Given the description of an element on the screen output the (x, y) to click on. 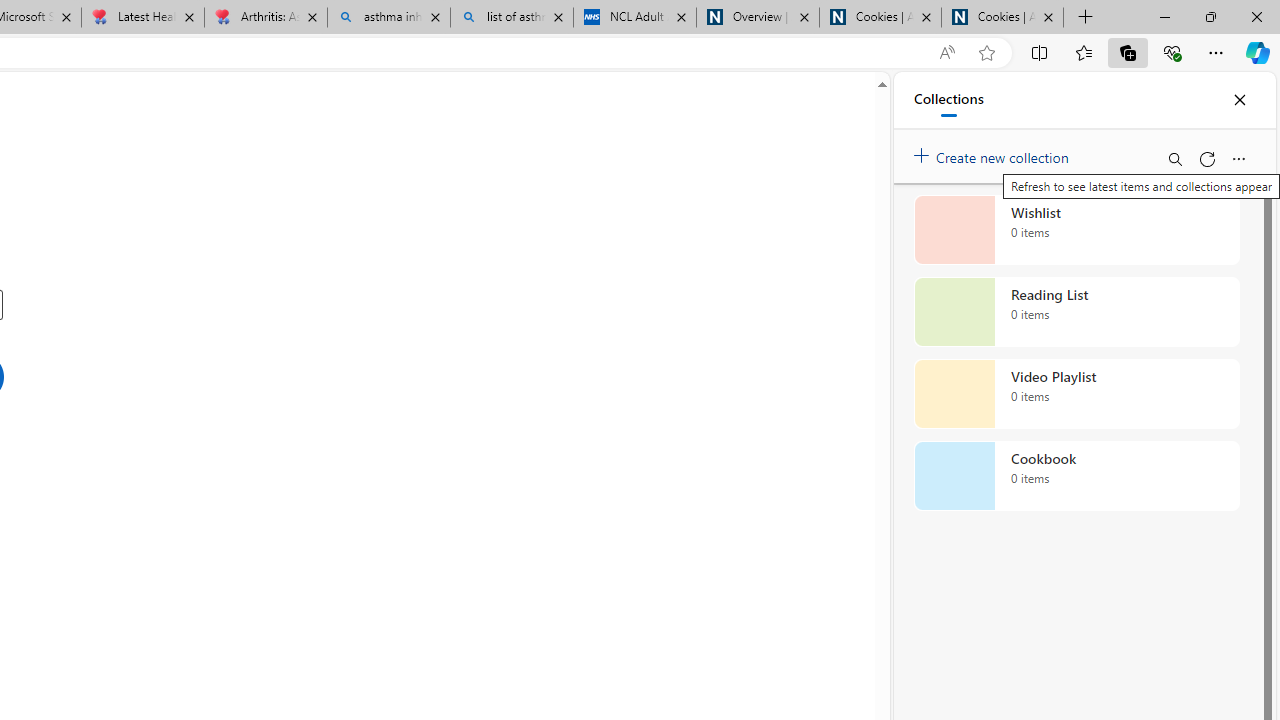
Reading List collection, 0 items (1076, 312)
asthma inhaler - Search (388, 17)
Cookies | About | NICE (1002, 17)
list of asthma inhalers uk - Search (511, 17)
Create new collection (994, 153)
